Given the description of an element on the screen output the (x, y) to click on. 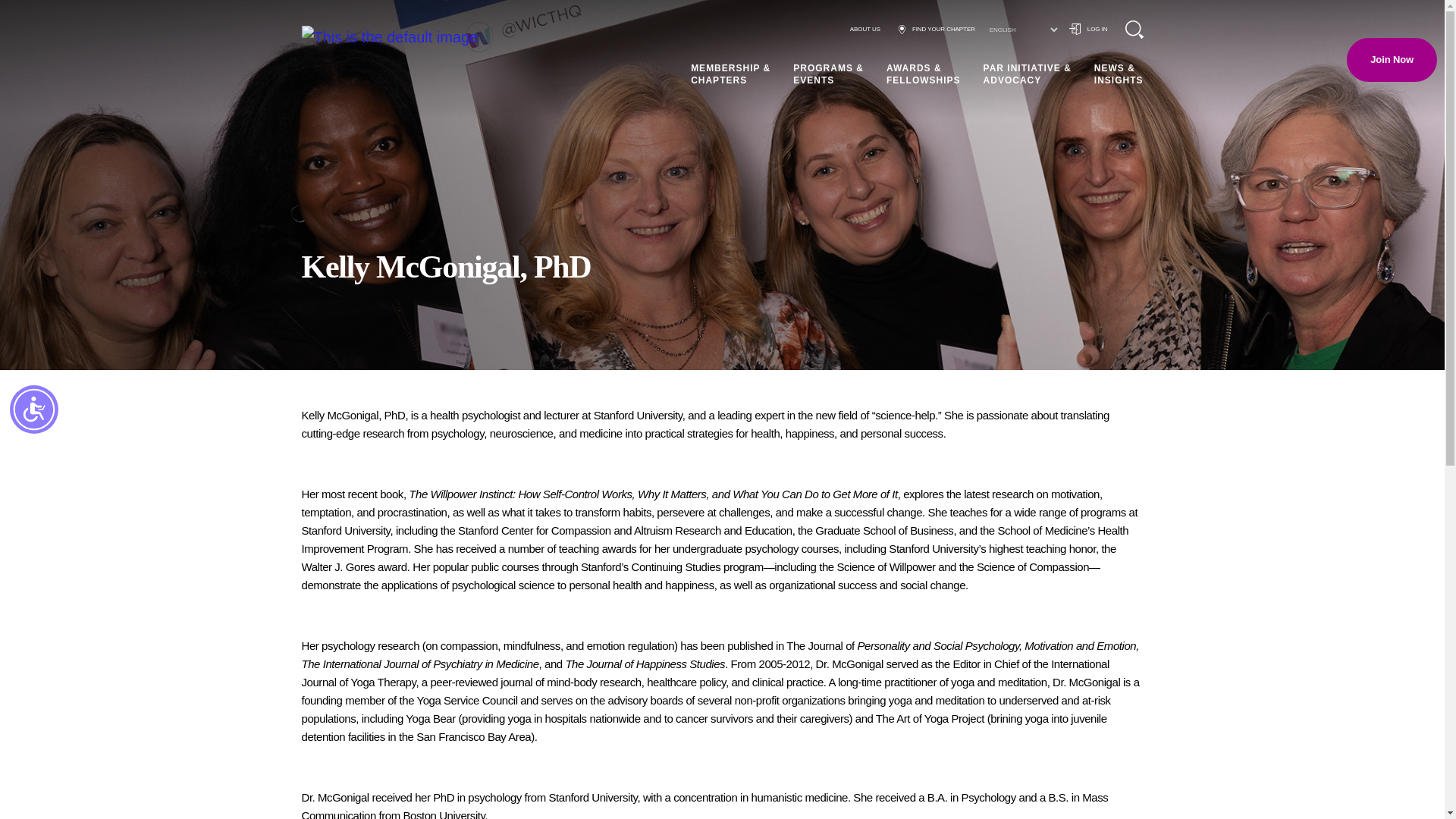
LOG IN (1088, 29)
Find Your Chapter (936, 29)
Accessibility Menu (34, 409)
FIND YOUR CHAPTER (936, 29)
Skip to main content (24, 16)
ABOUT US (865, 29)
About Us (865, 29)
Join Now (1391, 59)
